Given the description of an element on the screen output the (x, y) to click on. 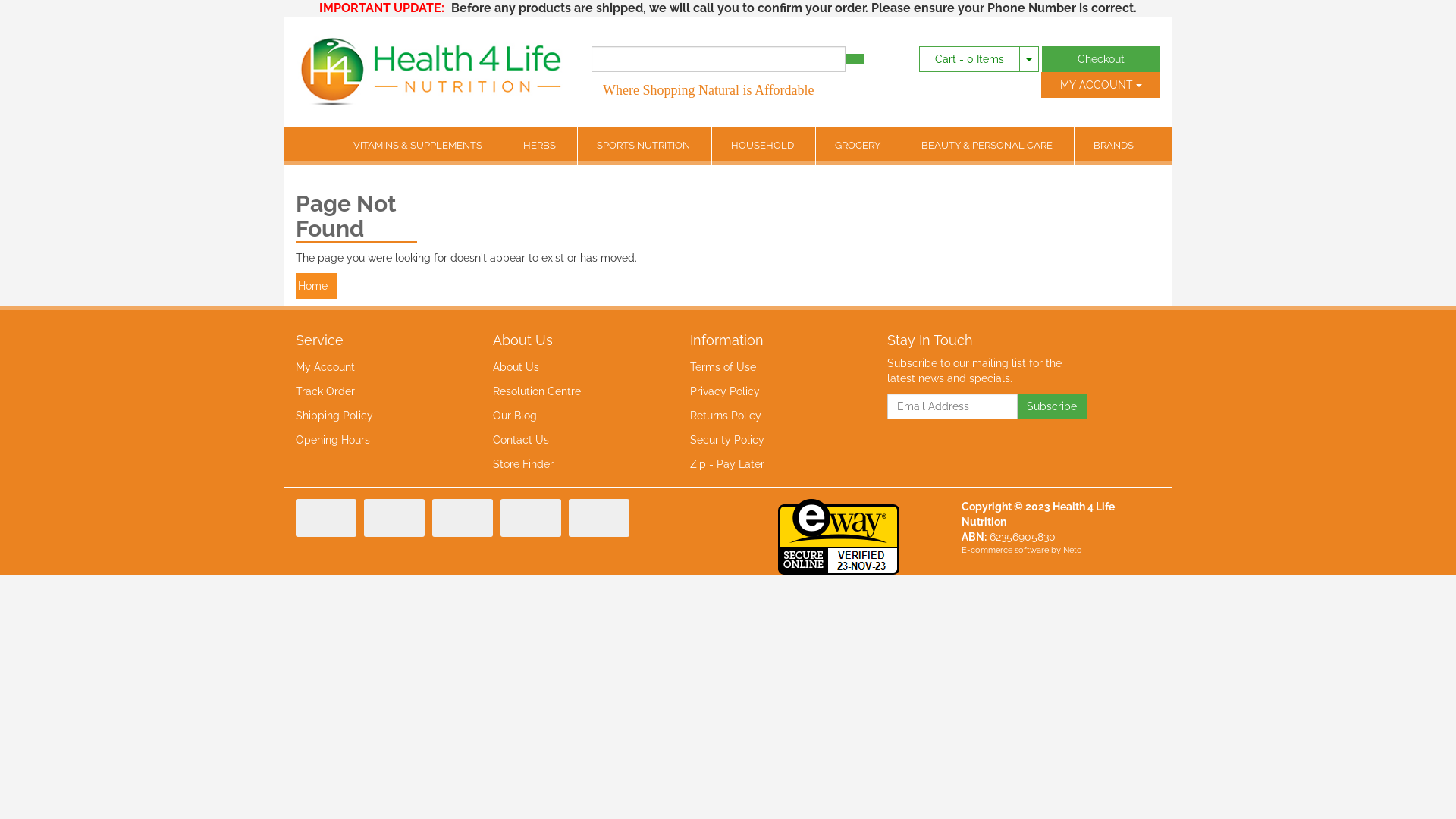
Returns Policy Element type: text (771, 415)
BEAUTY & PERSONAL CARE  Element type: text (988, 145)
Neto Element type: text (1072, 550)
Security Policy Element type: text (771, 439)
My Account Element type: text (377, 366)
About Us Element type: text (574, 366)
eWAY Payment Gateway Element type: hover (838, 535)
Health 4 Life Nutrition Element type: hover (431, 63)
Track Order Element type: text (377, 390)
Opening Hours Element type: text (377, 439)
SPORTS NUTRITION  Element type: text (644, 145)
Shipping Policy Element type: text (377, 415)
HOUSEHOLD  Element type: text (763, 145)
Terms of Use Element type: text (771, 366)
HERBS  Element type: text (540, 145)
Contact Us Element type: text (574, 439)
Our Blog Element type: text (574, 415)
Checkout Element type: text (1100, 59)
Home Element type: text (316, 285)
Subscribe Element type: text (1050, 406)
Cart - 0 Items Element type: text (969, 59)
MY ACCOUNT Element type: text (1101, 84)
Resolution Centre Element type: text (574, 390)
BRANDS Element type: text (1113, 145)
GROCERY  Element type: text (858, 145)
Search Element type: text (854, 58)
VITAMINS & SUPPLEMENTS  Element type: text (418, 145)
Privacy Policy Element type: text (771, 390)
Zip - Pay Later Element type: text (771, 463)
Store Finder Element type: text (574, 463)
